Given the description of an element on the screen output the (x, y) to click on. 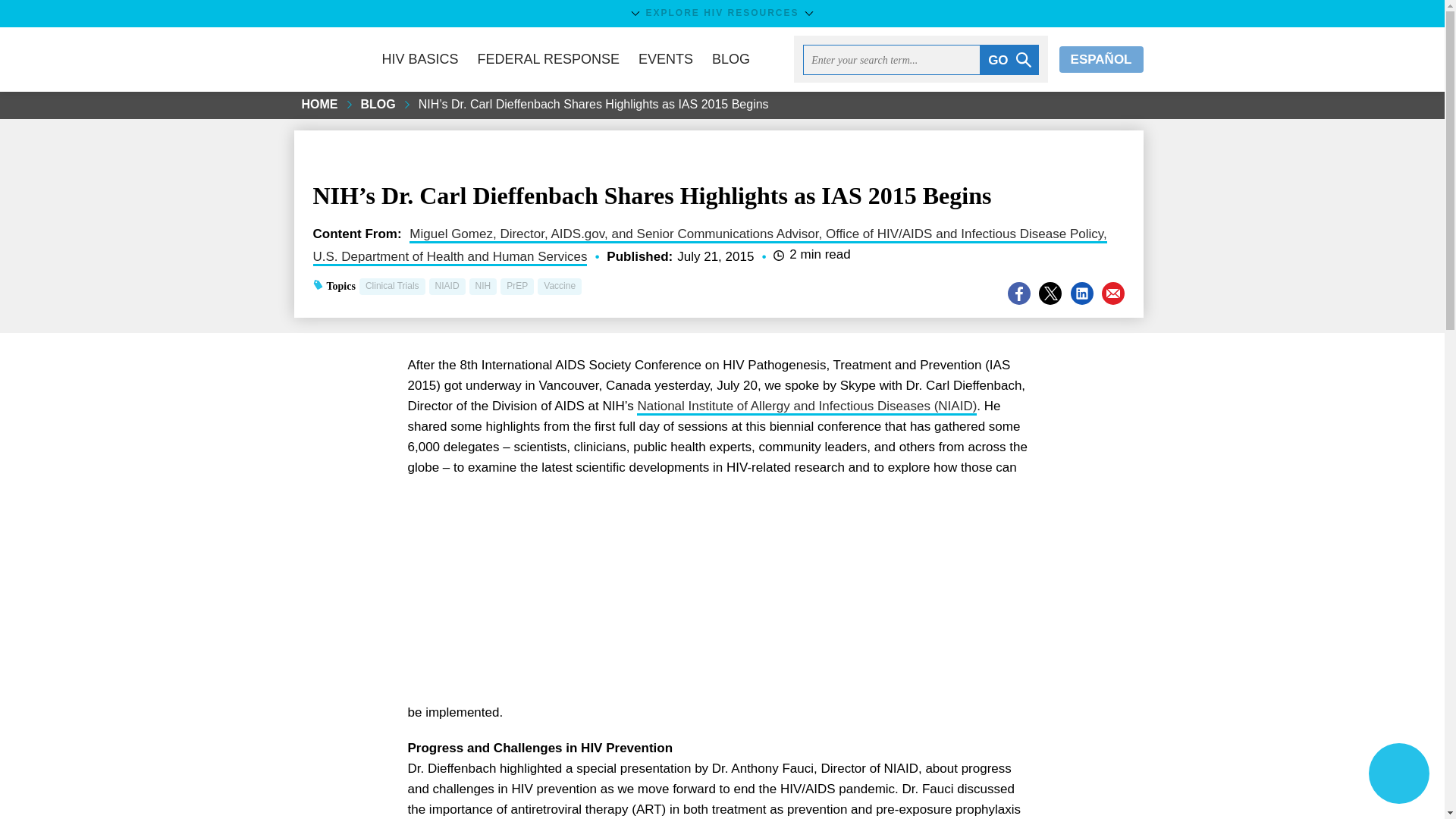
HIV BASICS (419, 59)
Video (714, 596)
HIV.gov (326, 59)
